Given the description of an element on the screen output the (x, y) to click on. 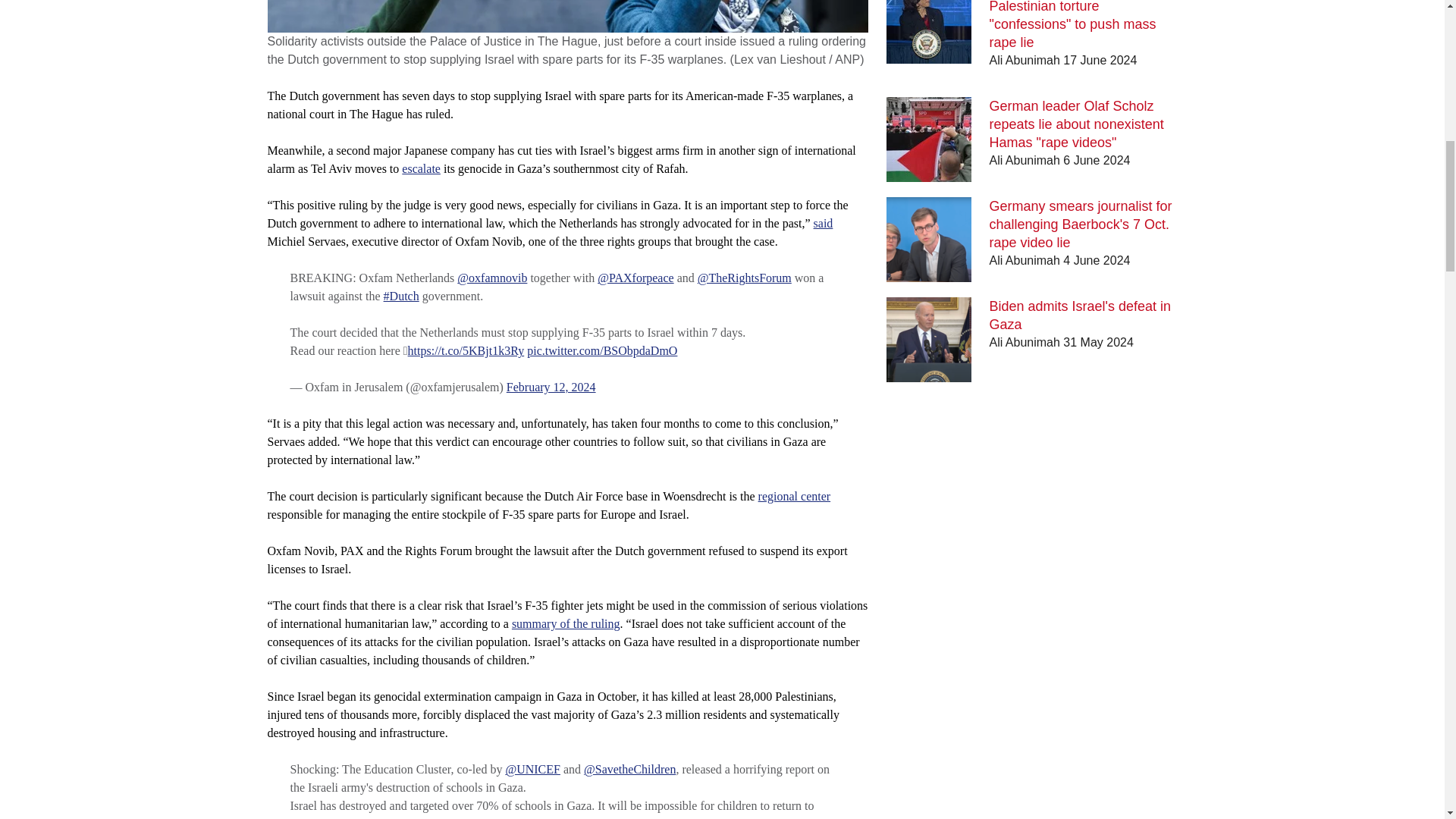
escalate (421, 168)
summary of the ruling (566, 623)
February 12, 2024 (550, 386)
said (822, 223)
regional center (794, 495)
